Given the description of an element on the screen output the (x, y) to click on. 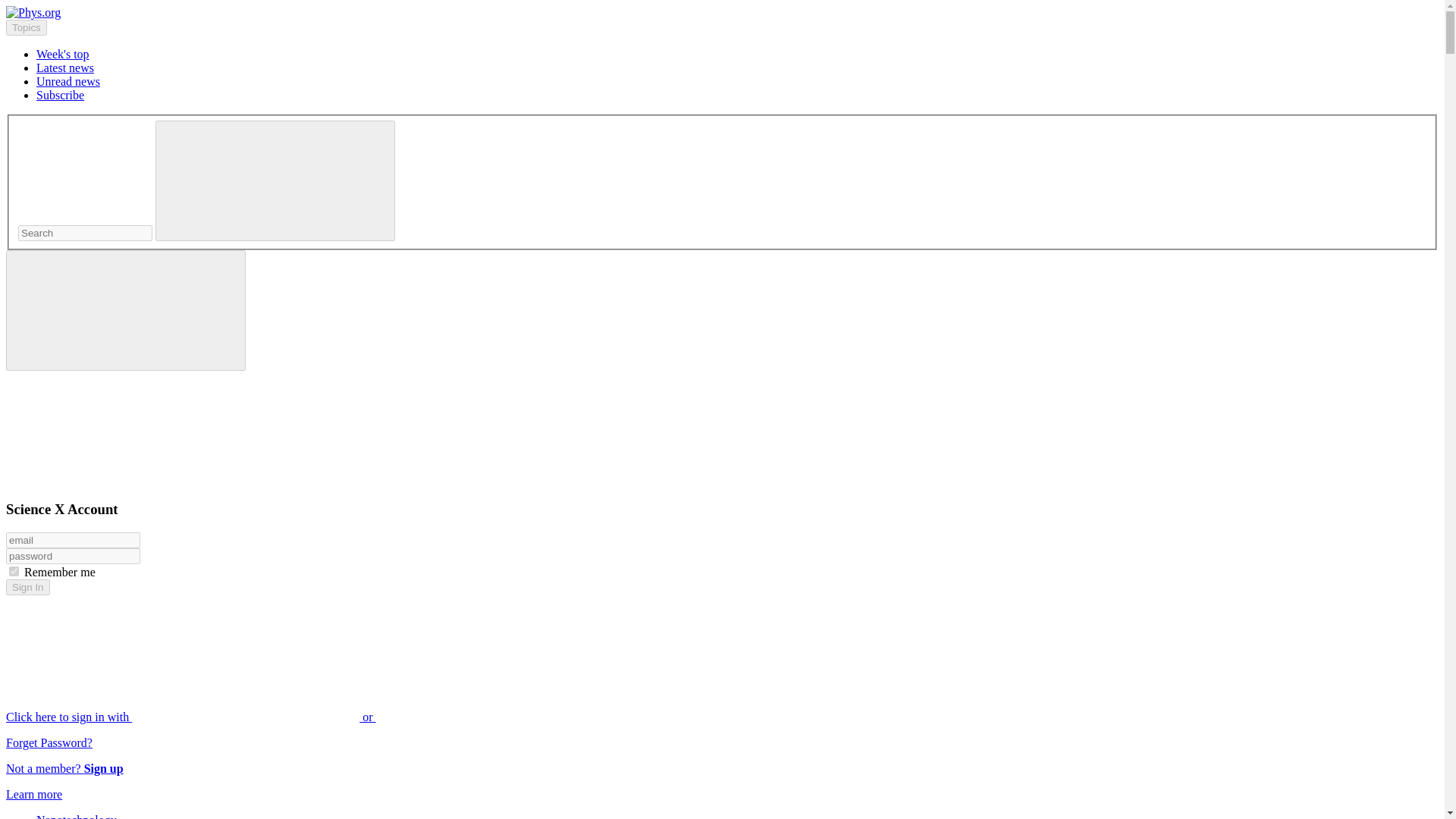
Topics (25, 27)
Nanotechnology (76, 816)
Sign In (27, 587)
on (13, 571)
Week's top (62, 53)
Click here to sign in with or (304, 716)
Not a member? Sign up (64, 768)
Learn more (33, 793)
Latest news (65, 67)
Subscribe (60, 94)
